Given the description of an element on the screen output the (x, y) to click on. 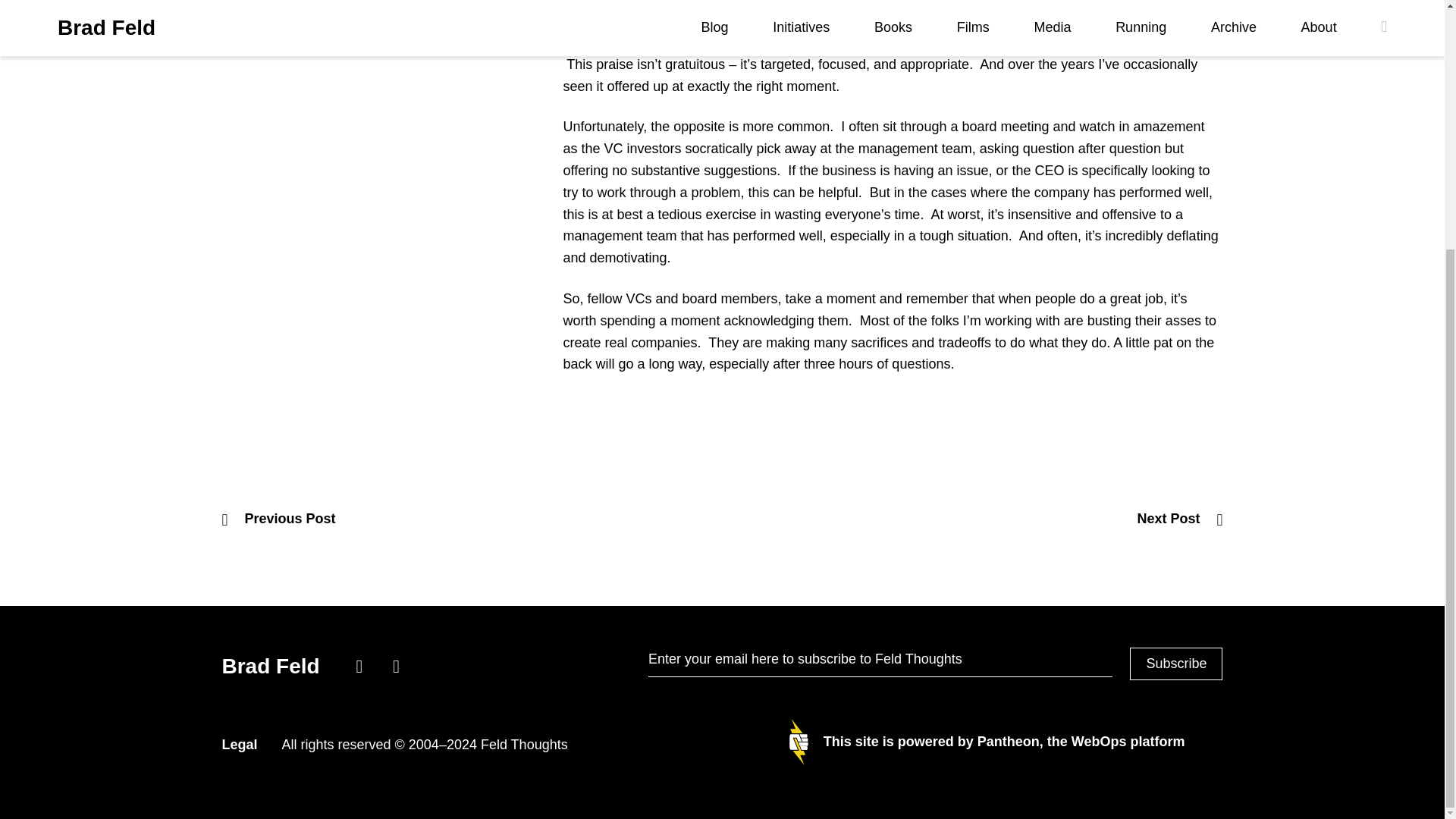
Next Post (1180, 518)
Brad Feld (272, 666)
Subscribe (1176, 663)
Previous Post (277, 518)
Legal (239, 744)
This site is powered by Pantheon, the WebOps platform (987, 741)
